Given the description of an element on the screen output the (x, y) to click on. 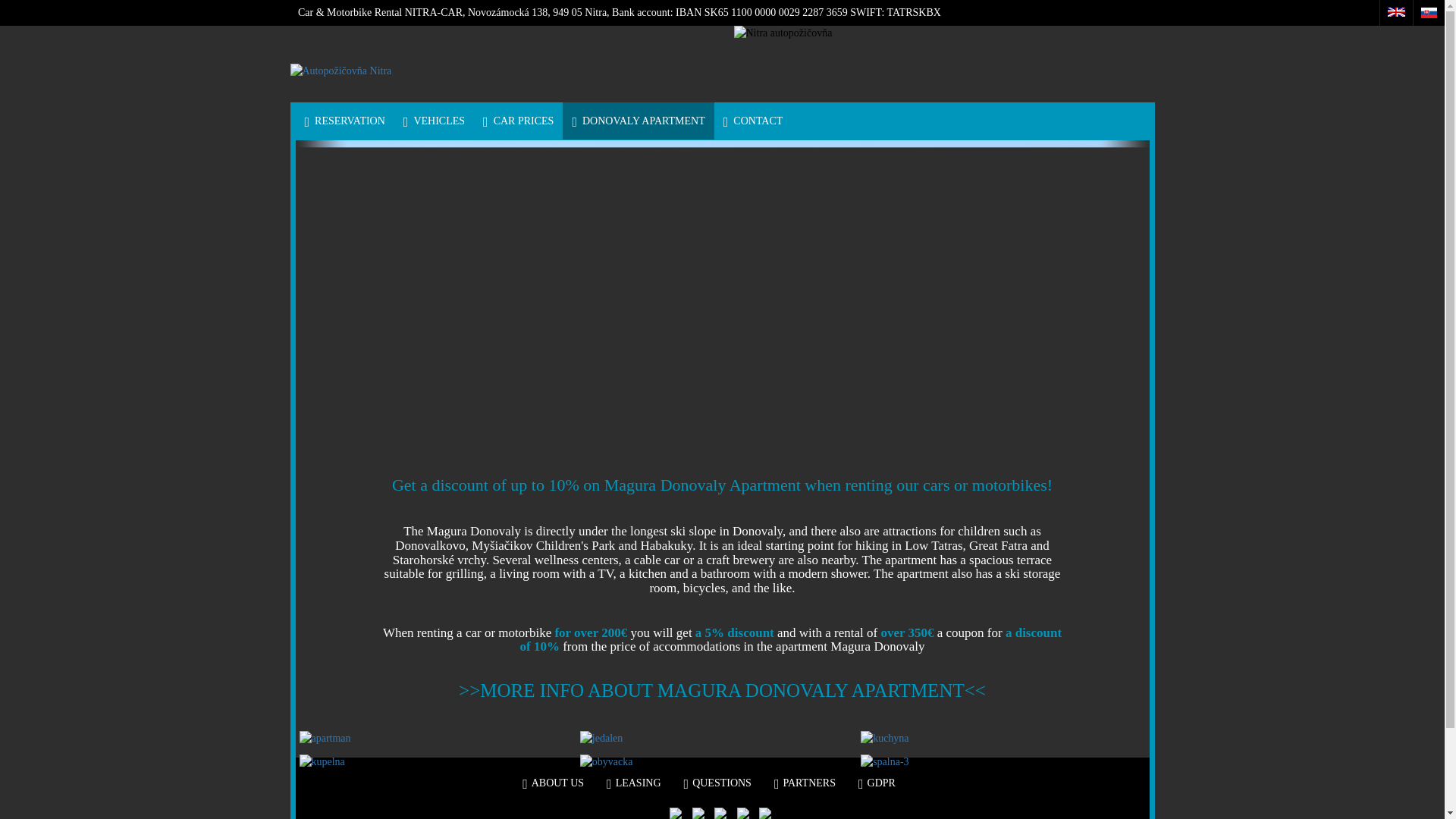
GDPR (877, 782)
CONTACT (753, 120)
DONOVALY APARTMENT (637, 120)
LEASING (634, 782)
RESERVATION (344, 120)
PARTNERS (804, 782)
ABOUT US (552, 782)
VEHICLES (434, 120)
CAR PRICES (518, 120)
QUESTIONS (717, 782)
